Given the description of an element on the screen output the (x, y) to click on. 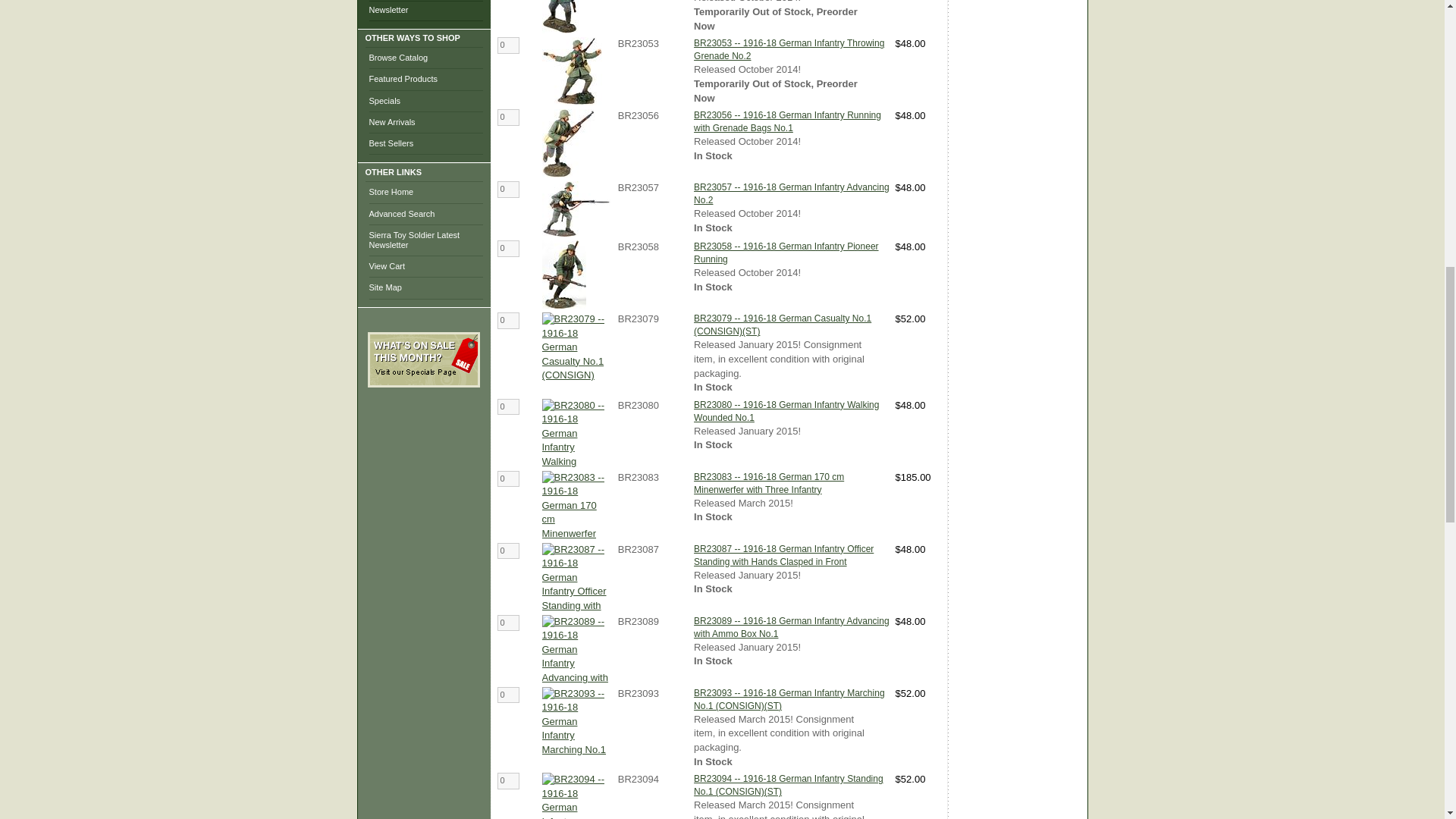
0 (508, 406)
0 (508, 550)
0 (508, 478)
0 (508, 623)
0 (508, 781)
0 (508, 248)
0 (508, 45)
0 (508, 117)
0 (508, 695)
0 (508, 320)
